Given the description of an element on the screen output the (x, y) to click on. 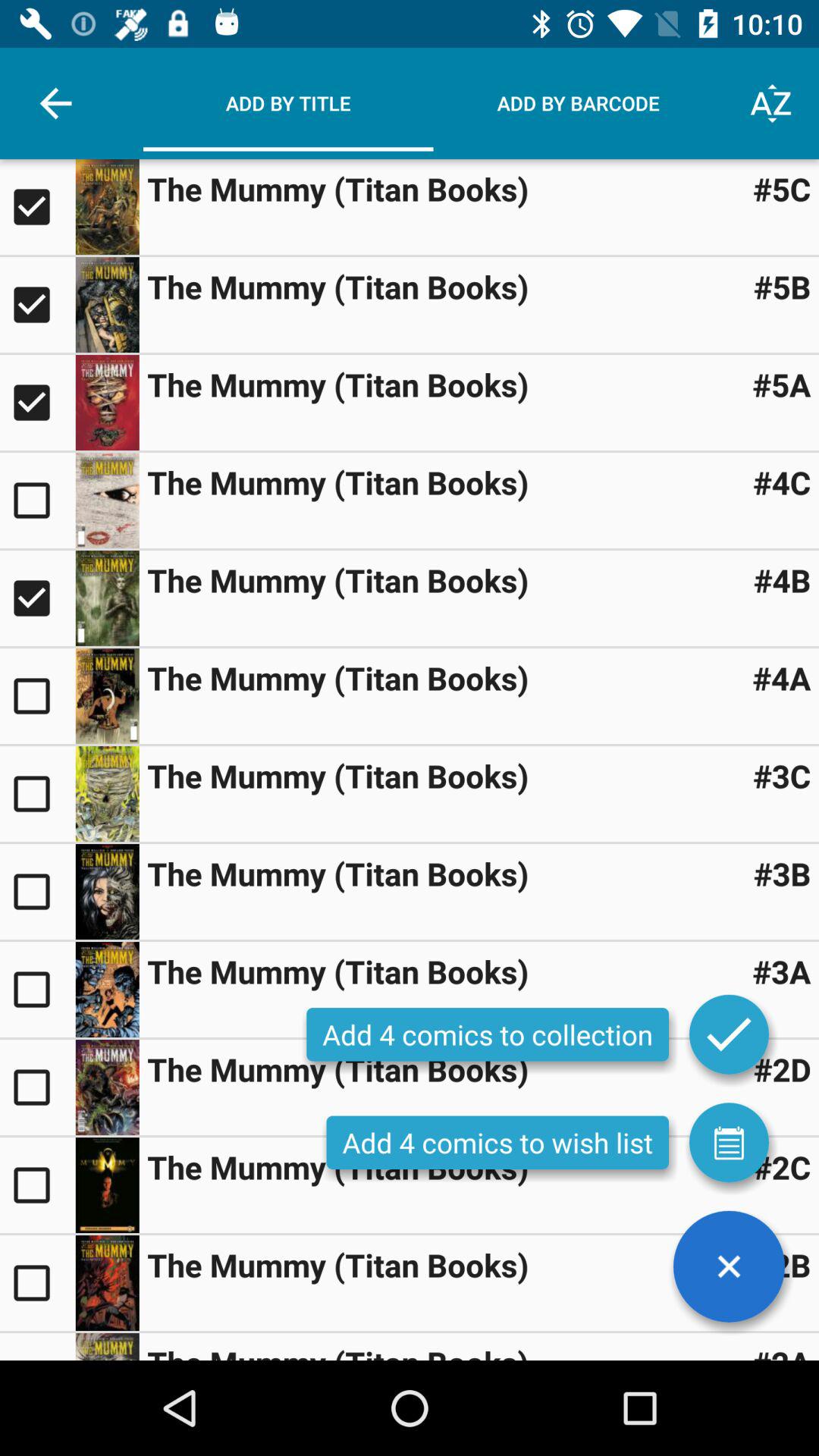
open book (107, 1282)
